Given the description of an element on the screen output the (x, y) to click on. 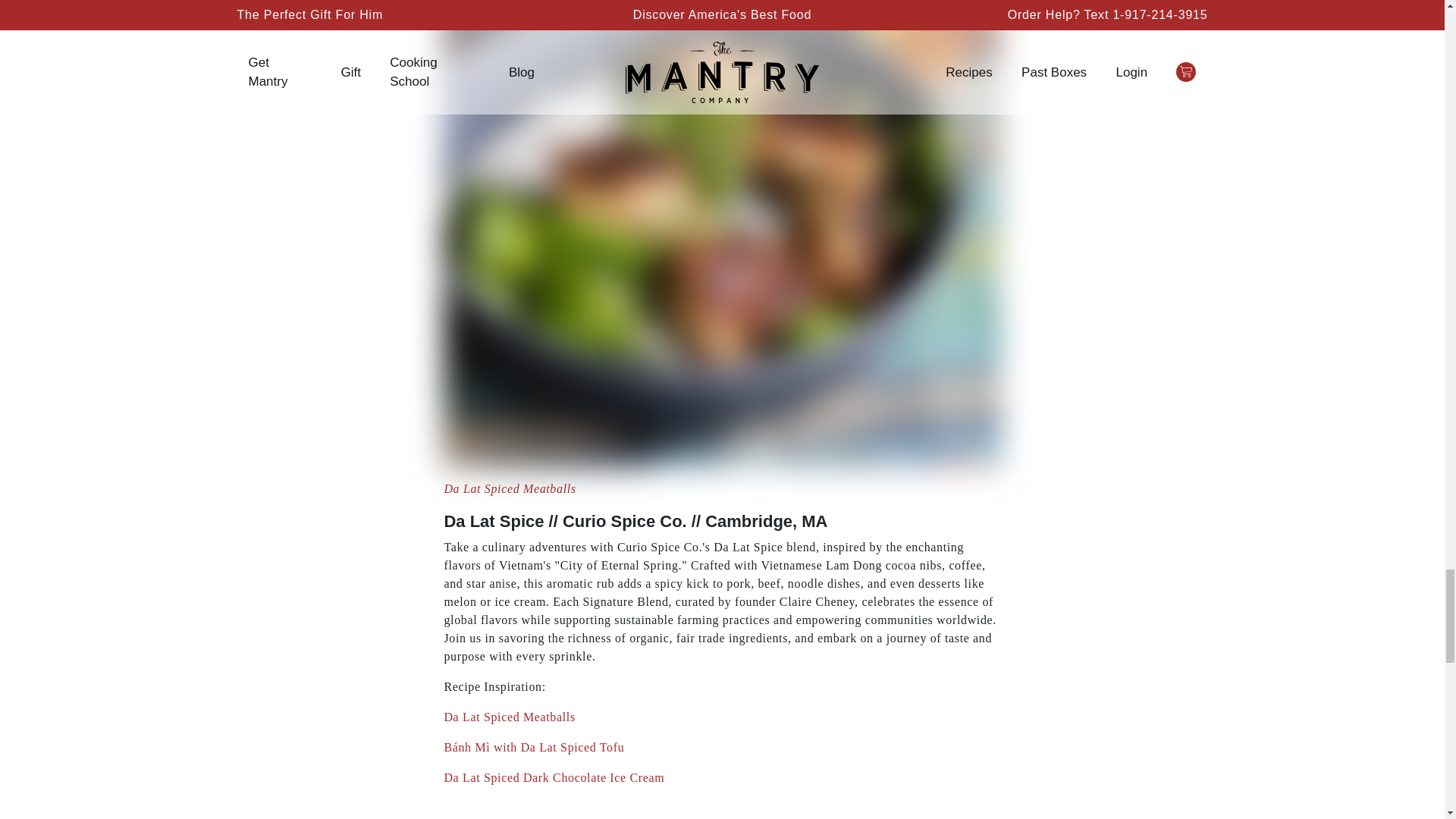
Da Lat Spiced Meatballs (509, 488)
Da Lat Spiced Meatballs (509, 717)
Da Lat Spiced Dark Chocolate Ice Cream (553, 778)
